Given the description of an element on the screen output the (x, y) to click on. 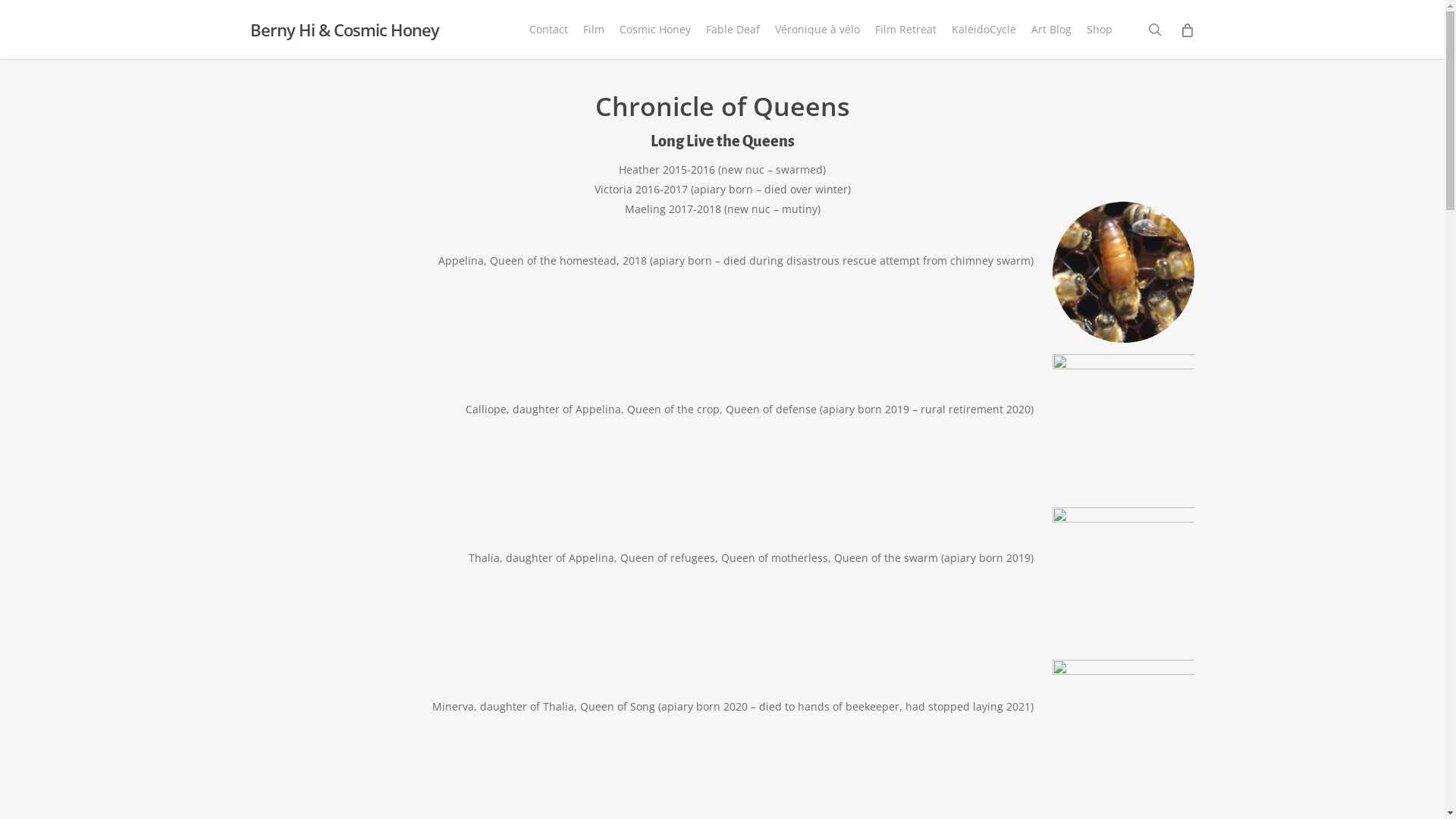
Fable Deaf Element type: text (732, 29)
Art Blog Element type: text (1051, 29)
Film Element type: text (593, 29)
Shop Element type: text (1099, 29)
KaleidoCycle Element type: text (983, 29)
Berny Hi & Cosmic Honey Element type: text (344, 29)
Contact Element type: text (548, 29)
Film Retreat Element type: text (905, 29)
Cosmic Honey Element type: text (654, 29)
search Element type: text (1154, 29)
